Given the description of an element on the screen output the (x, y) to click on. 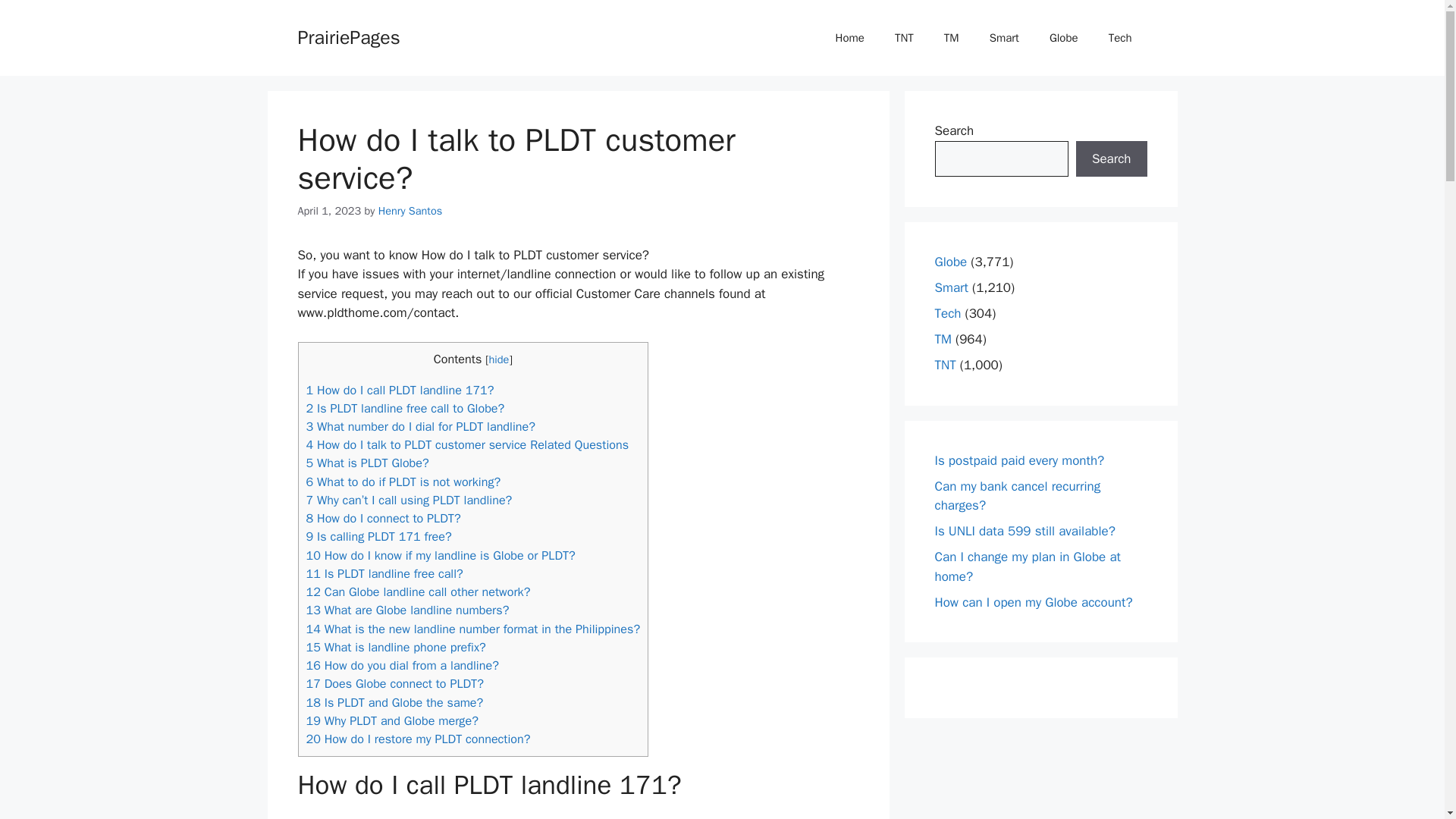
17 Does Globe connect to PLDT? (394, 683)
TM (951, 37)
13 What are Globe landline numbers? (407, 609)
Tech (1120, 37)
1 How do I call PLDT landline 171? (400, 390)
Home (850, 37)
9 Is calling PLDT 171 free? (378, 536)
19 Why PLDT and Globe merge? (392, 720)
2 Is PLDT landline free call to Globe? (405, 408)
Globe (1063, 37)
